Given the description of an element on the screen output the (x, y) to click on. 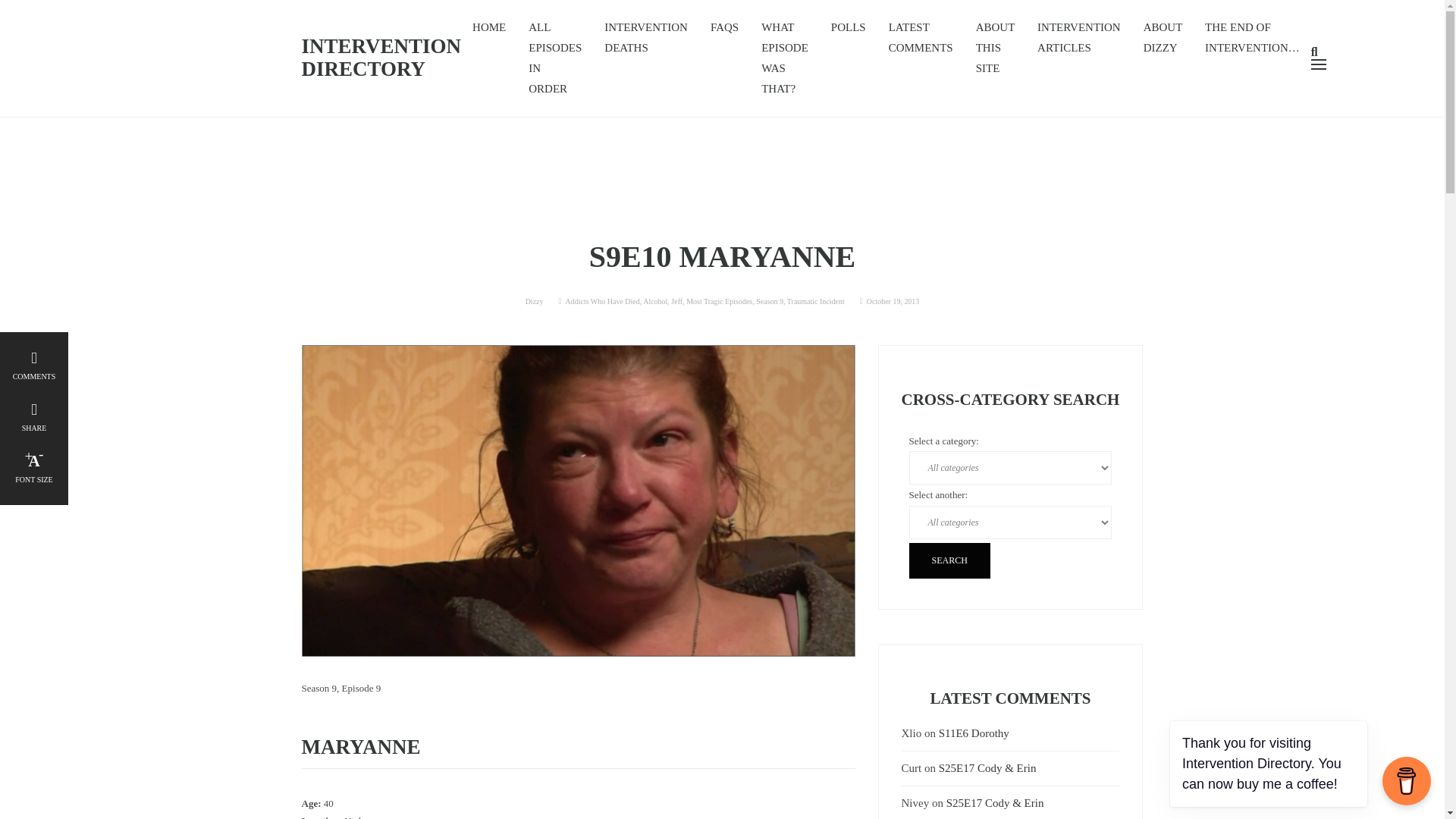
HOME (488, 27)
LATEST COMMENTS (920, 38)
POLLS (848, 27)
INTERVENTION ARTICLES (1079, 38)
INTERVENTION DIRECTORY (381, 71)
FAQS (723, 27)
Intervention Directory (381, 71)
INTERVENTION DEATHS (645, 38)
Search (949, 560)
